Given the description of an element on the screen output the (x, y) to click on. 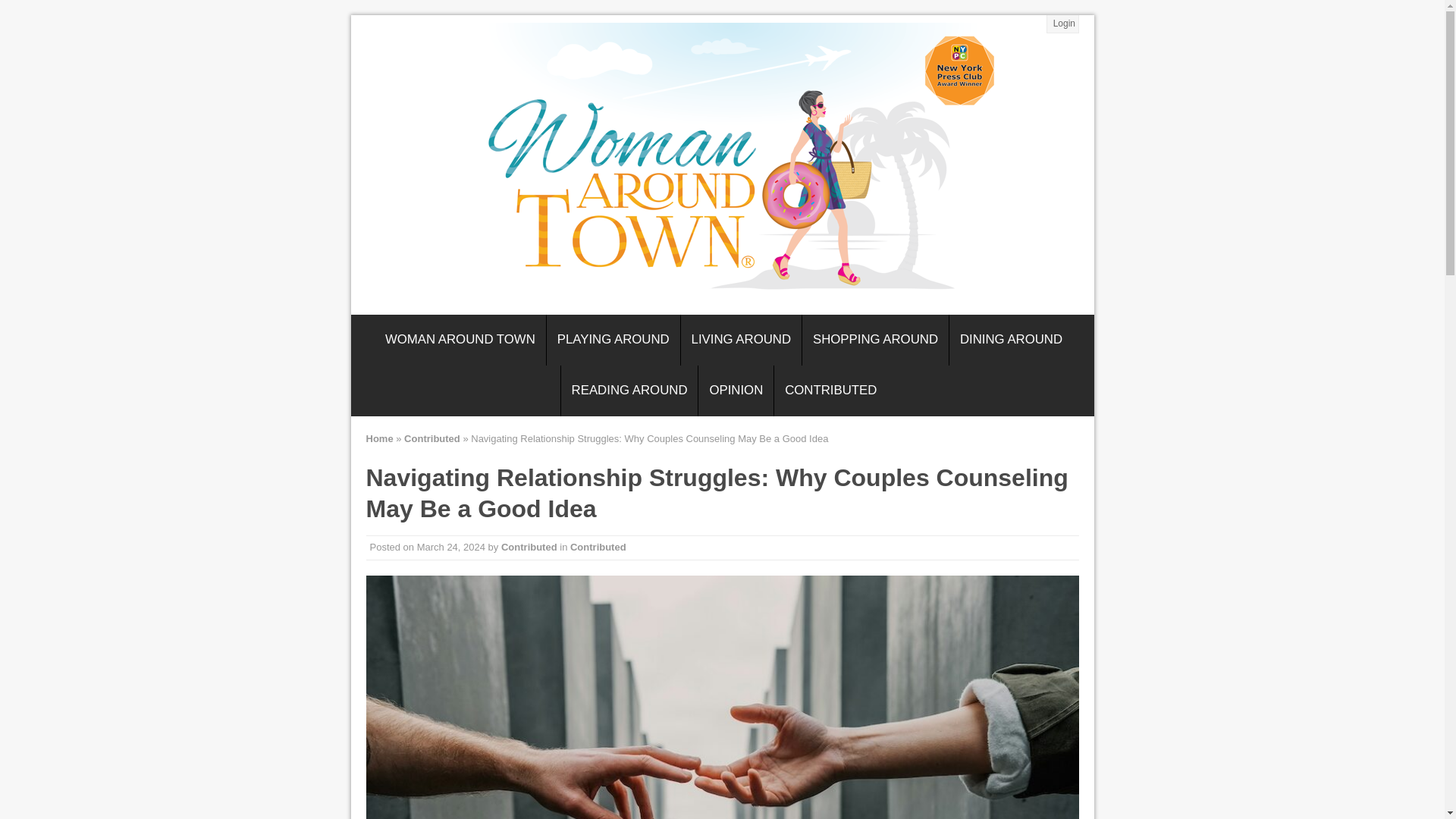
Home (379, 438)
Contributed (528, 546)
LIVING AROUND (741, 339)
WOMAN AROUND TOWN (460, 339)
Contributed (598, 546)
OPINION (735, 390)
DINING AROUND (1011, 339)
Contributed (432, 438)
PLAYING AROUND (613, 339)
